Given the description of an element on the screen output the (x, y) to click on. 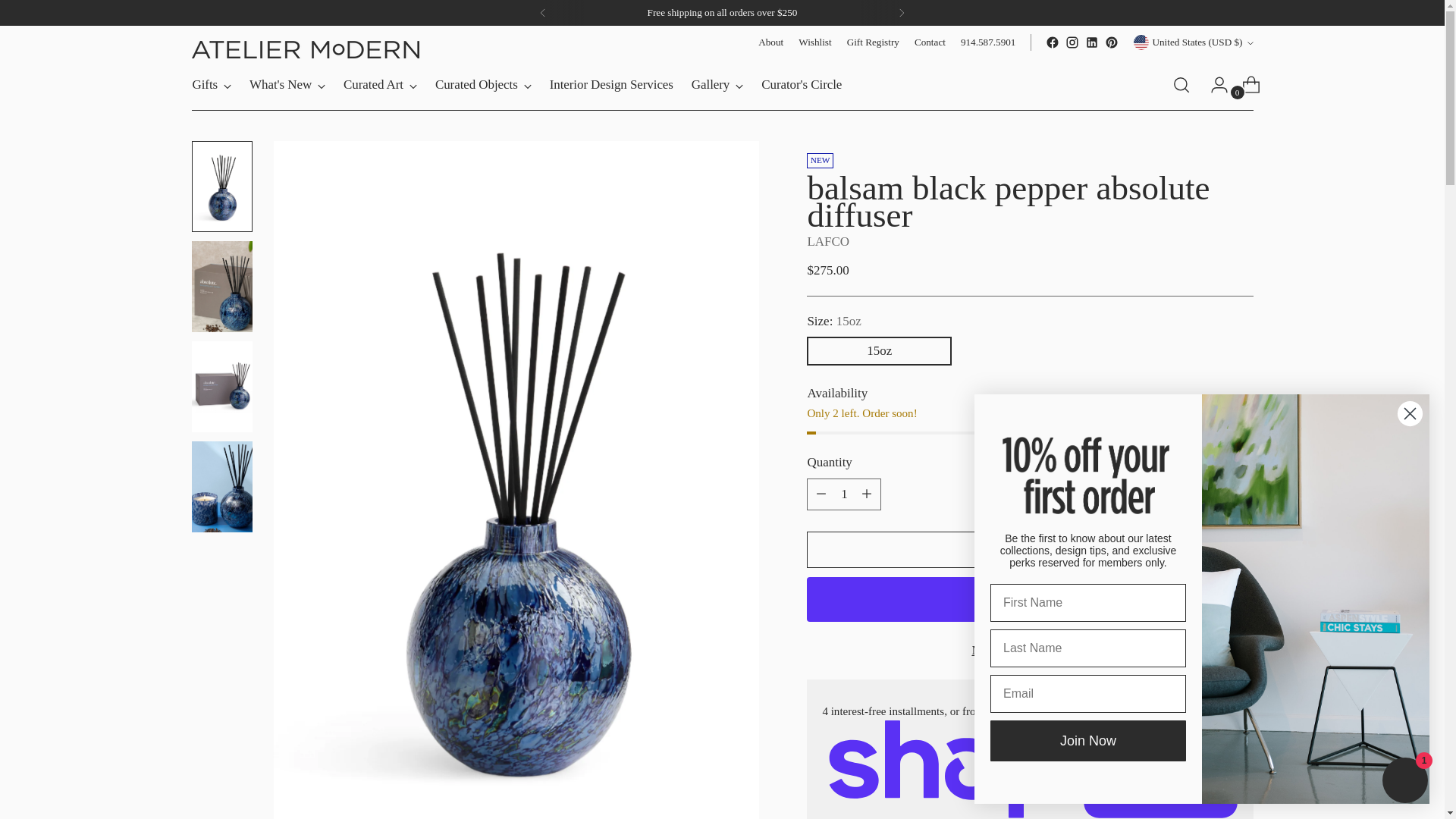
LAFCO (827, 241)
Next (901, 12)
914.587.5901 (988, 41)
Atelier Modern on Instagram (1071, 42)
Atelier Modern on Pinterest (1111, 42)
Gifts (211, 84)
Atelier Modern on Facebook (1052, 42)
Previous (542, 12)
1 (843, 494)
Wishlist (814, 41)
Atelier Modern on LinkedIn (1091, 42)
Contact (929, 41)
Gift Registry (873, 41)
